Given the description of an element on the screen output the (x, y) to click on. 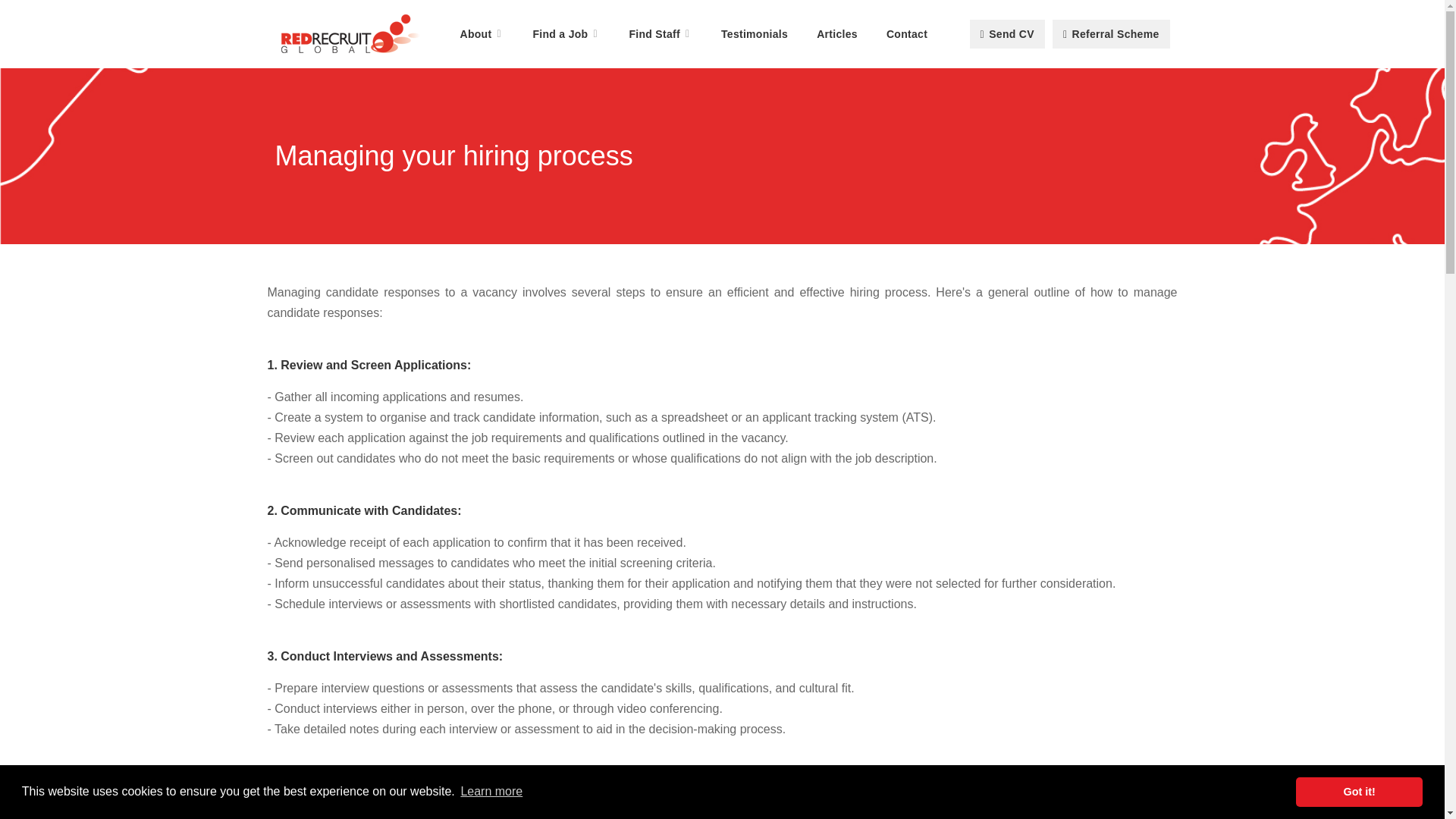
Contact (906, 33)
Referral Scheme (1111, 33)
Got it! (1358, 791)
Send CV (1007, 33)
Articles (836, 33)
Find a Job (565, 33)
Learn more (491, 791)
Find Staff (660, 33)
Testimonials (753, 33)
About (480, 33)
